Given the description of an element on the screen output the (x, y) to click on. 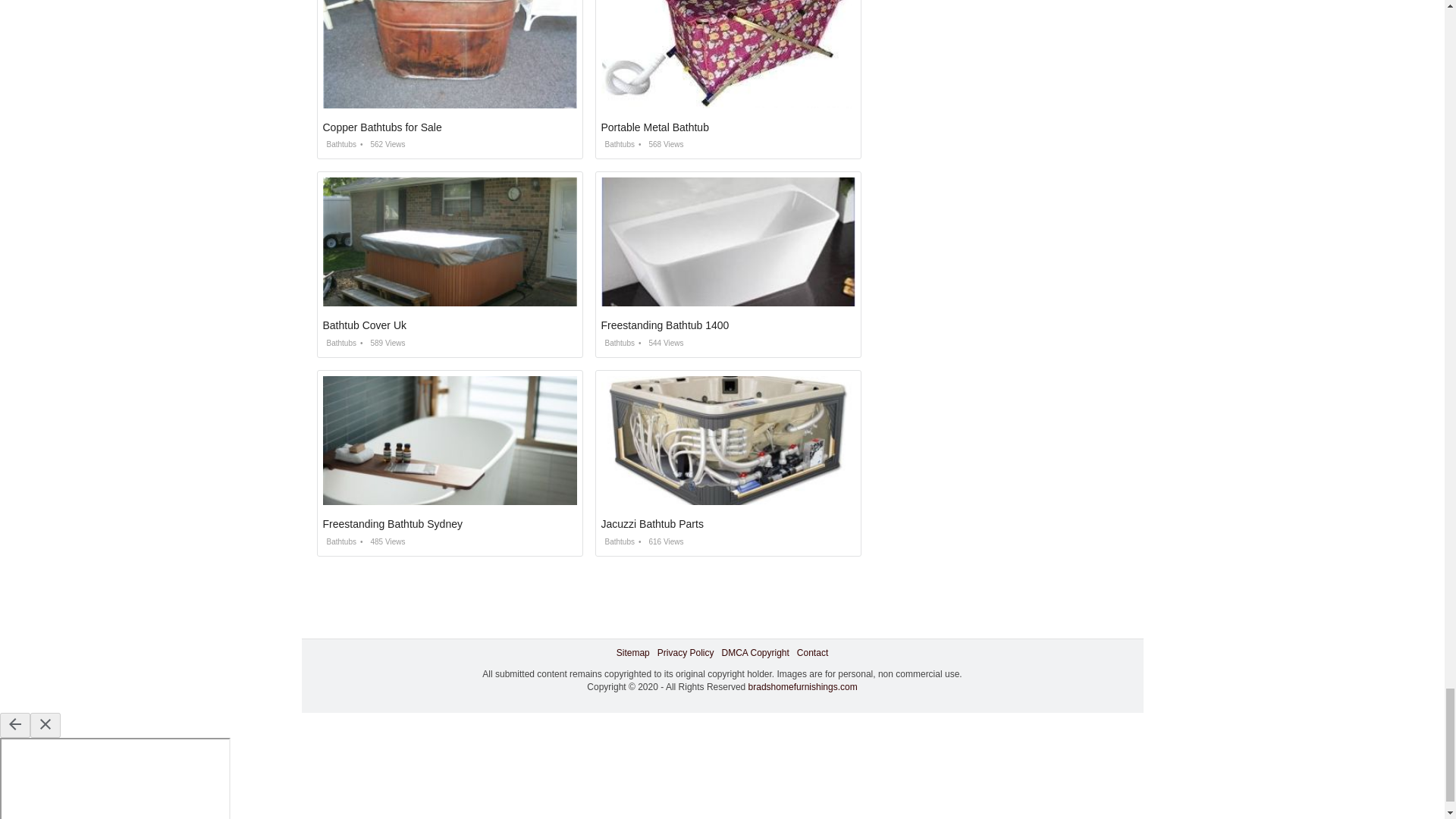
Bathtubs (616, 144)
Bathtubs (339, 343)
Bathtubs (339, 541)
Freestanding Bathtub Sydney (393, 523)
Bathtubs (339, 144)
Bathtubs (616, 343)
Portable Metal Bathtub (653, 127)
Freestanding Bathtub 1400 (664, 325)
Bathtub Cover Uk (365, 325)
Copper Bathtubs for Sale (382, 127)
Jacuzzi Bathtub Parts (651, 523)
Bathtubs (616, 541)
